Given the description of an element on the screen output the (x, y) to click on. 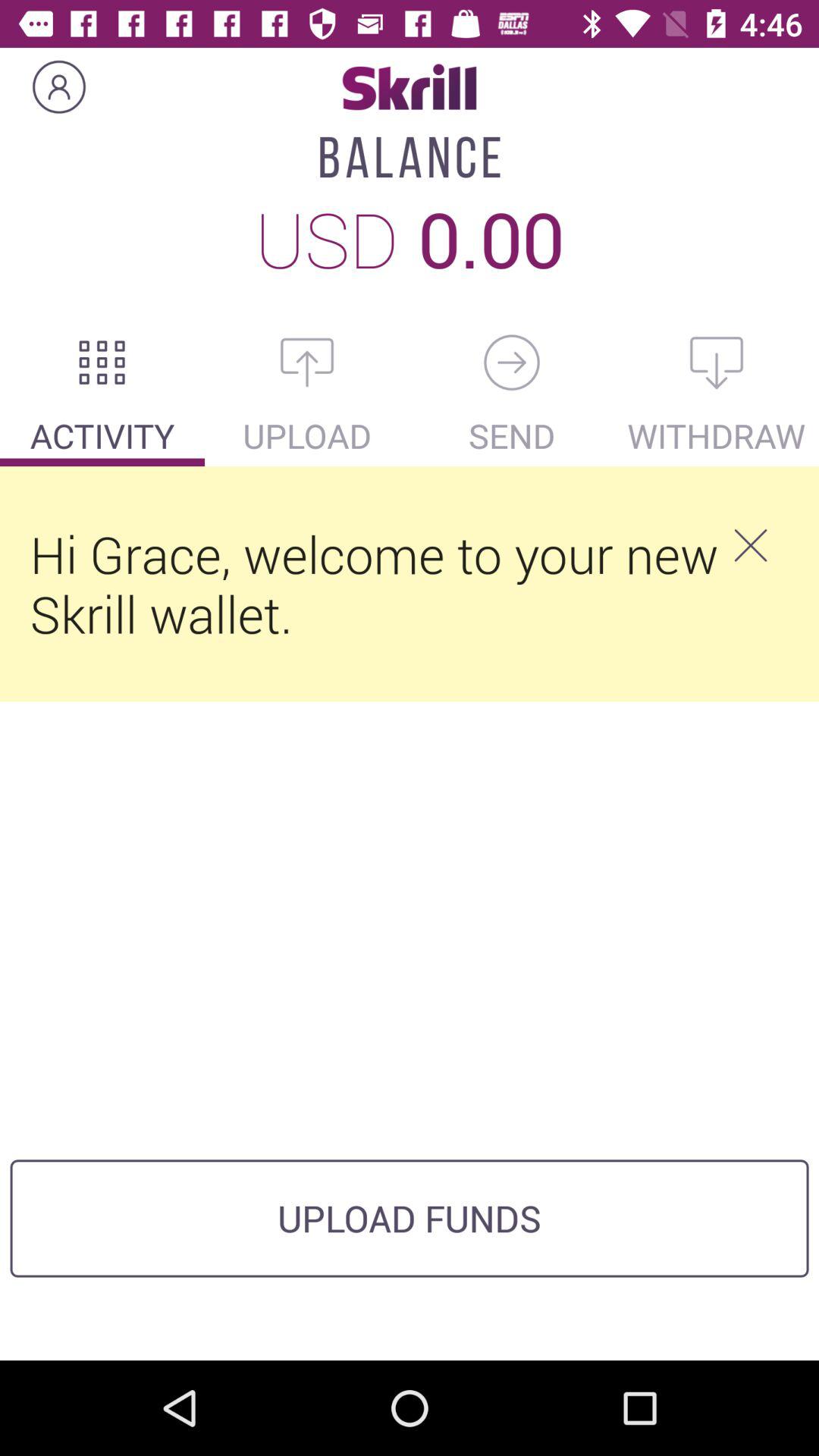
choose item above withdraw item (716, 362)
